Given the description of an element on the screen output the (x, y) to click on. 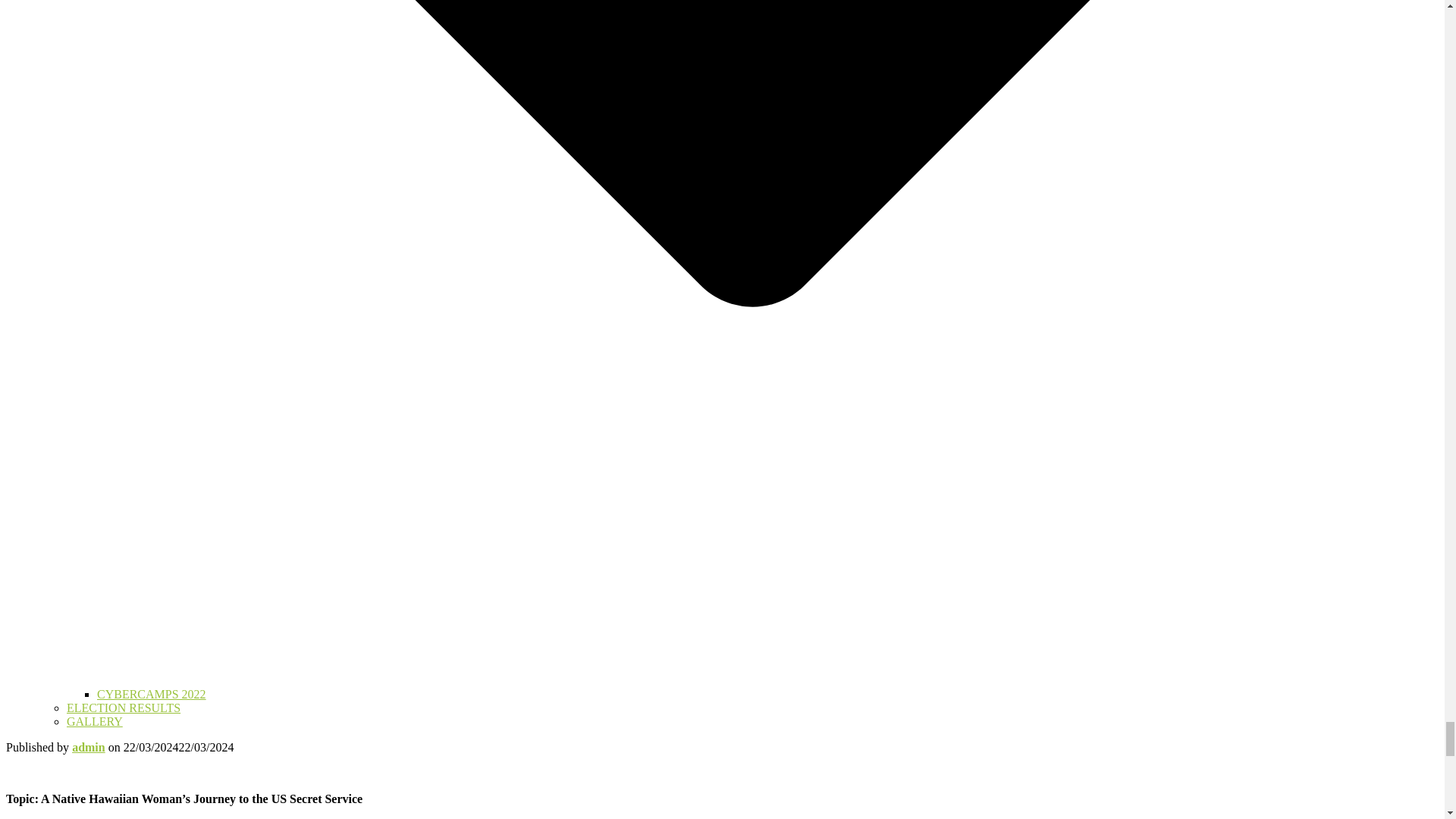
admin (87, 747)
ELECTION RESULTS (123, 707)
CYBERCAMPS 2022 (151, 694)
GALLERY (94, 721)
